Given the description of an element on the screen output the (x, y) to click on. 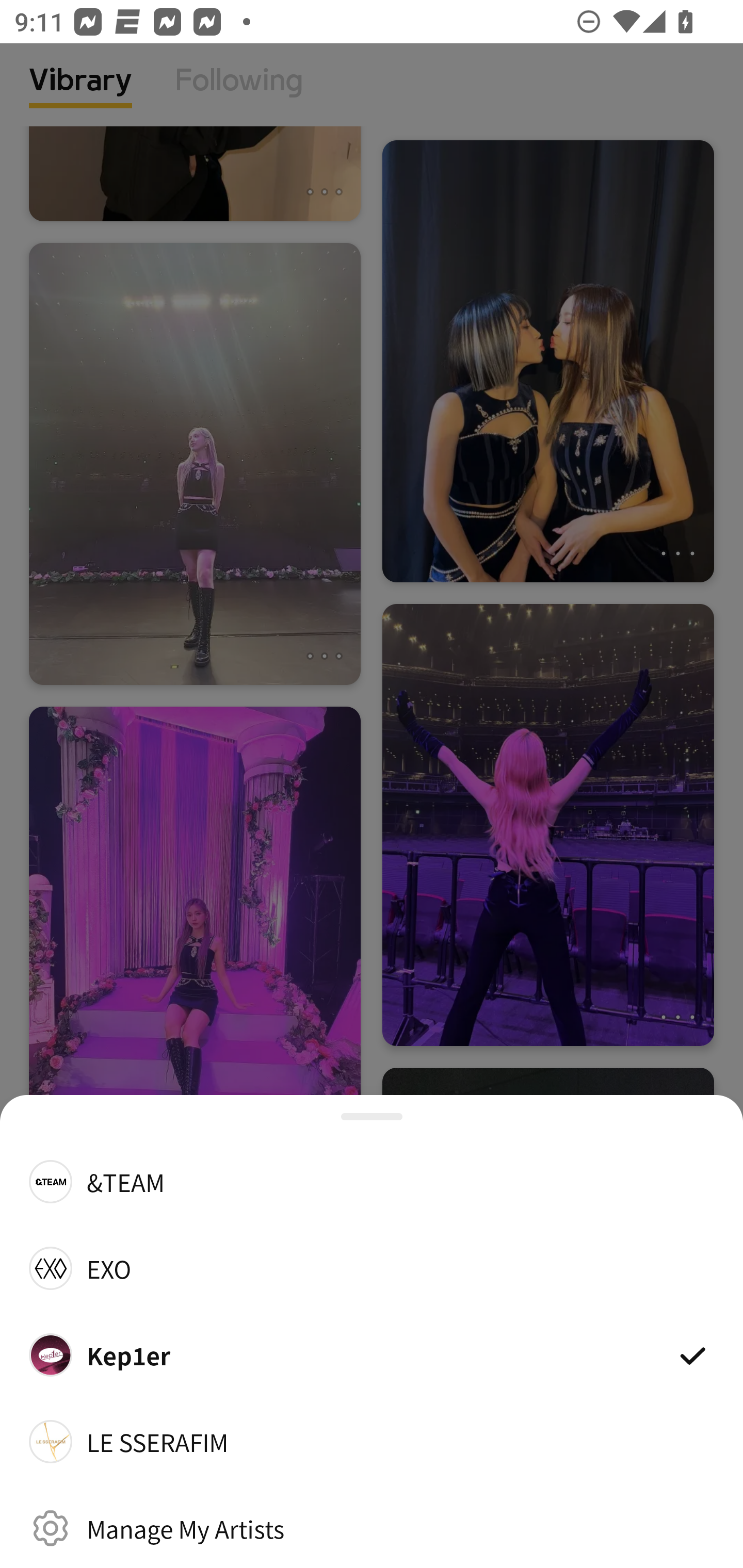
&TEAM (371, 1181)
EXO (371, 1268)
Kep1er (371, 1354)
LE SSERAFIM (371, 1441)
Manage My Artists (371, 1527)
